Given the description of an element on the screen output the (x, y) to click on. 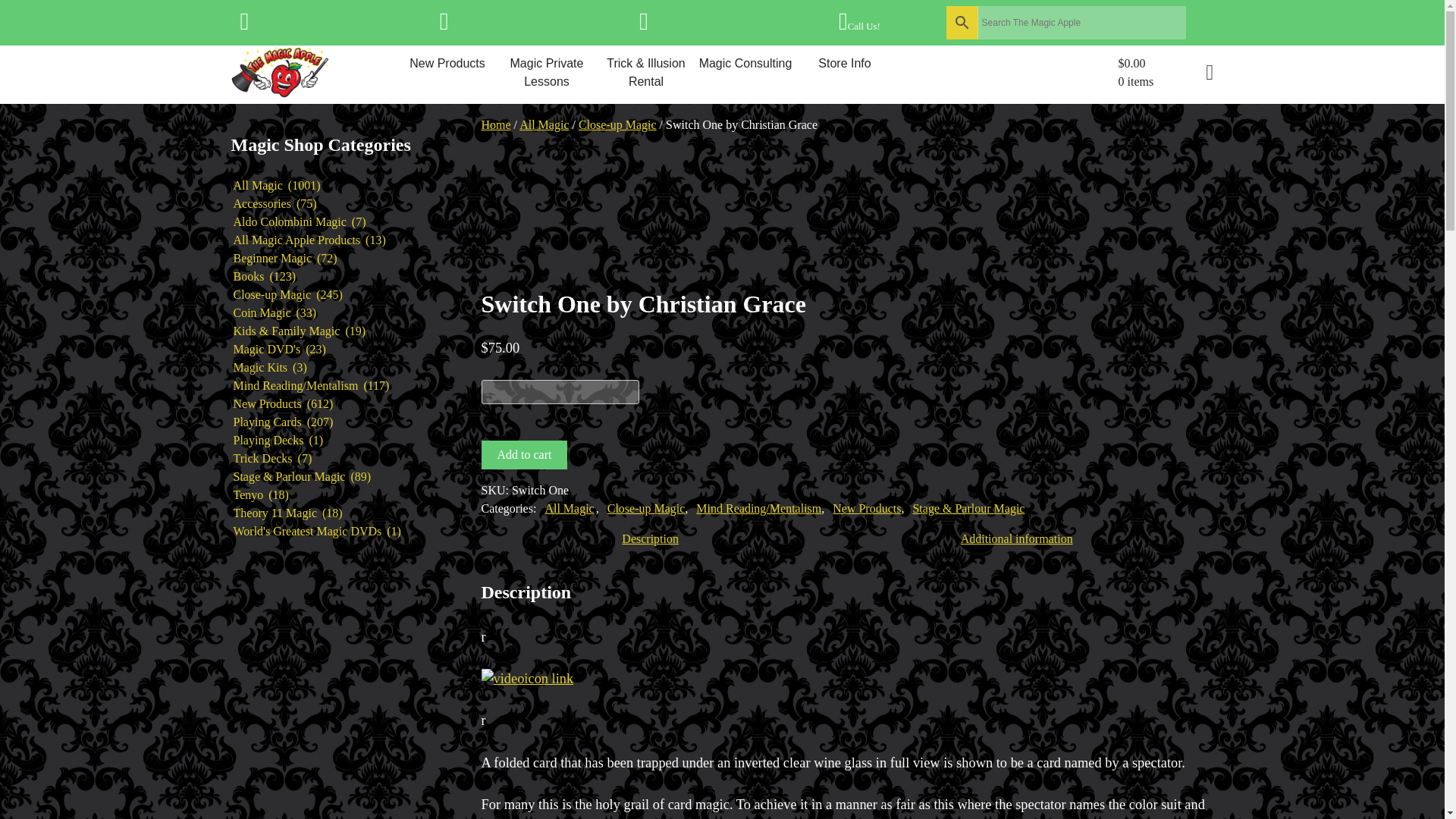
Store Info (843, 63)
View your shopping cart (1165, 72)
Call Us! (859, 25)
1 (559, 392)
Magic Private Lessons (546, 72)
Magic Consulting (744, 63)
New Products (446, 63)
